Given the description of an element on the screen output the (x, y) to click on. 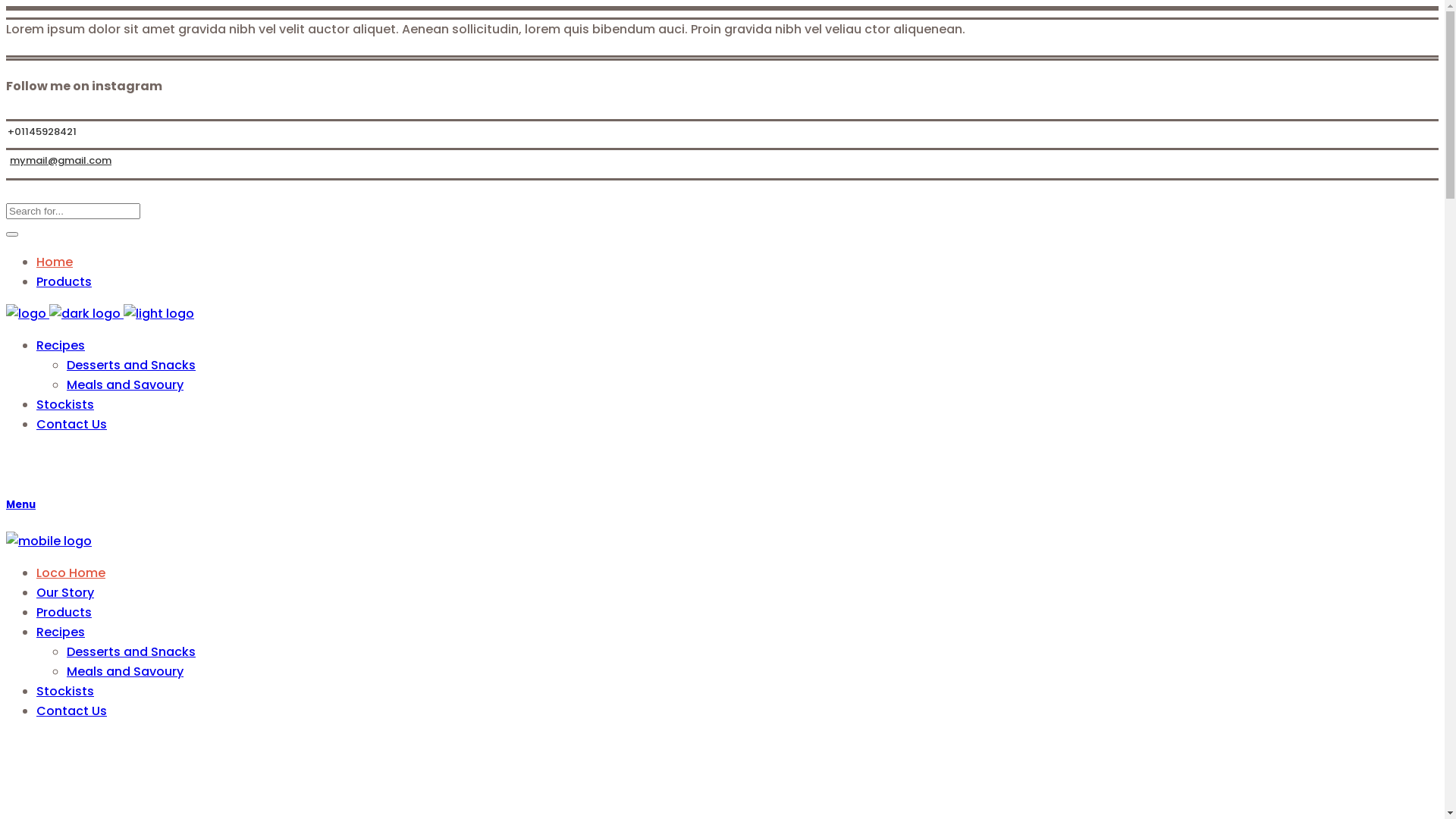
Our Story Element type: text (65, 592)
Home Element type: text (54, 261)
Products Element type: text (63, 612)
Recipes Element type: text (60, 631)
Desserts and Snacks Element type: text (130, 364)
Contact Us Element type: text (71, 424)
Desserts and Snacks Element type: text (130, 651)
Meals and Savoury Element type: text (124, 384)
mymail@gmail.com Element type: text (58, 159)
Stockists Element type: text (65, 690)
Meals and Savoury Element type: text (124, 671)
Products Element type: text (63, 281)
Recipes Element type: text (60, 345)
Loco Home Element type: text (70, 572)
Menu Element type: text (722, 504)
Stockists Element type: text (65, 404)
Contact Us Element type: text (71, 710)
